Given the description of an element on the screen output the (x, y) to click on. 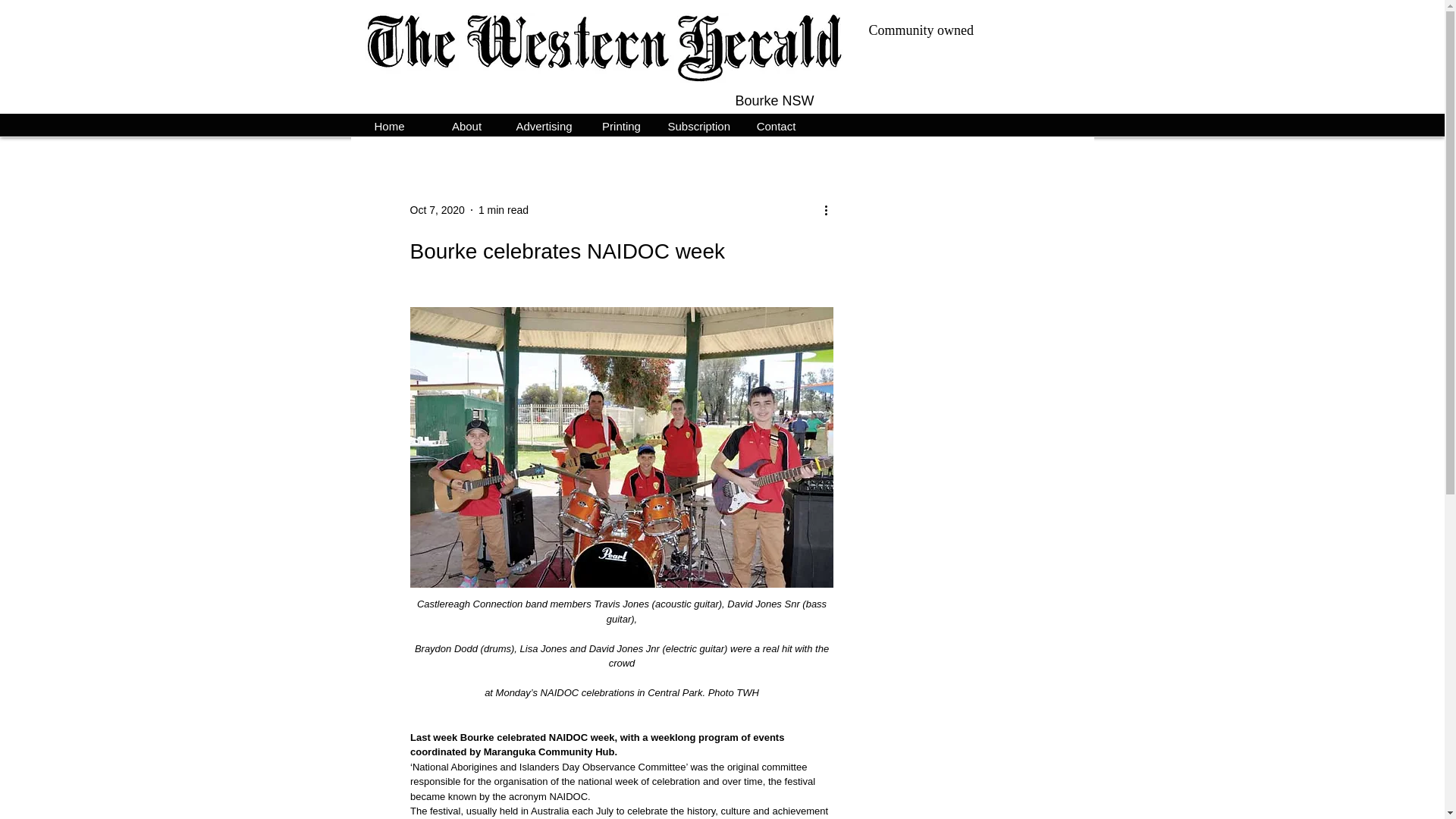
1 min read (503, 209)
Contact (774, 124)
Advertising (543, 124)
Oct 7, 2020 (436, 209)
Home (389, 124)
Subscription (697, 124)
About (466, 124)
Printing (620, 124)
